Given the description of an element on the screen output the (x, y) to click on. 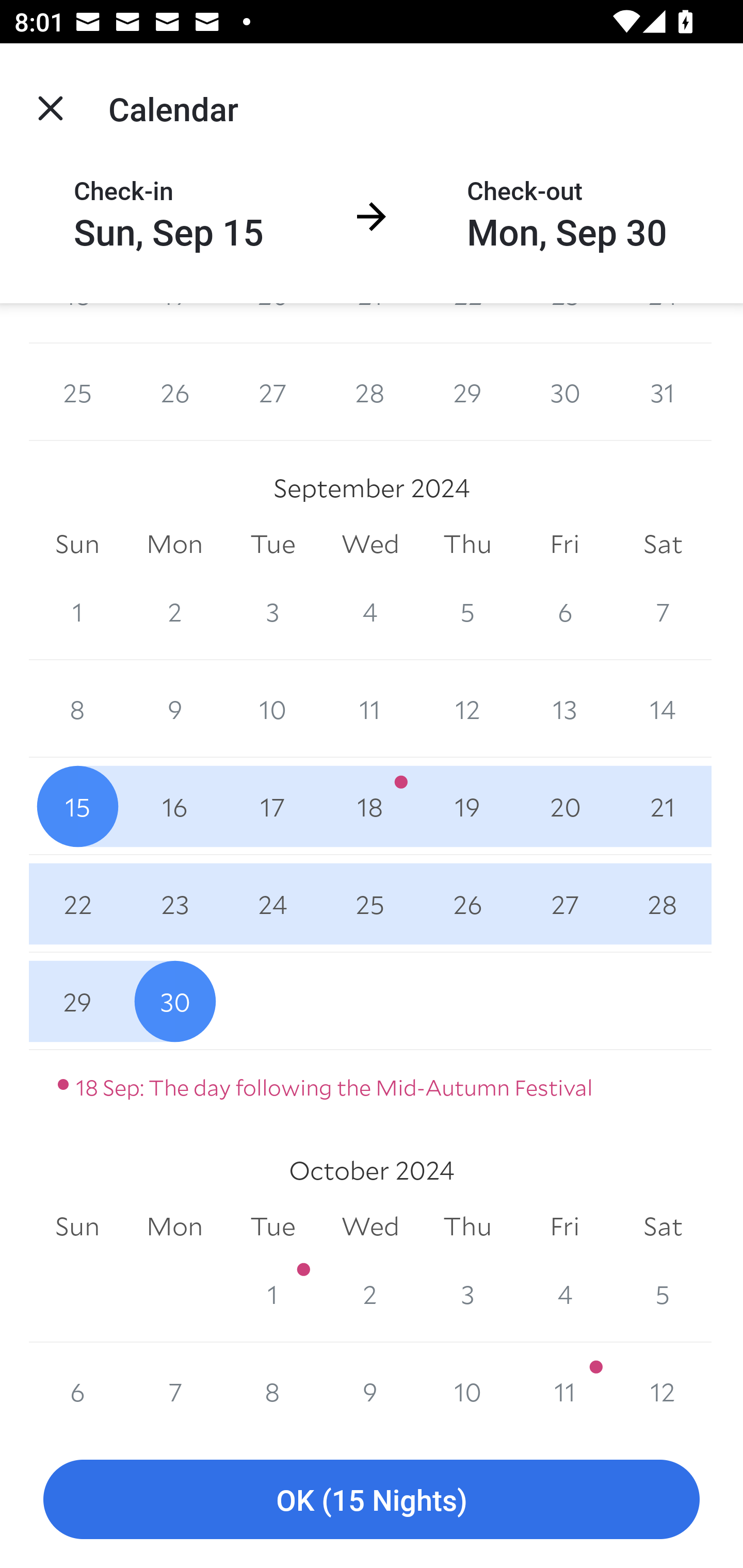
25 25 August 2024 (77, 391)
26 26 August 2024 (174, 391)
27 27 August 2024 (272, 391)
28 28 August 2024 (370, 391)
29 29 August 2024 (467, 391)
30 30 August 2024 (564, 391)
31 31 August 2024 (662, 391)
Sun (77, 543)
Mon (174, 543)
Tue (272, 543)
Wed (370, 543)
Thu (467, 543)
Fri (564, 543)
Sat (662, 543)
1 1 September 2024 (77, 611)
2 2 September 2024 (174, 611)
3 3 September 2024 (272, 611)
4 4 September 2024 (370, 611)
5 5 September 2024 (467, 611)
6 6 September 2024 (564, 611)
7 7 September 2024 (662, 611)
8 8 September 2024 (77, 708)
9 9 September 2024 (174, 708)
10 10 September 2024 (272, 708)
11 11 September 2024 (370, 708)
12 12 September 2024 (467, 708)
13 13 September 2024 (564, 708)
14 14 September 2024 (662, 708)
15 15 September 2024 (77, 805)
16 16 September 2024 (174, 805)
17 17 September 2024 (272, 805)
18 18 September 2024 (370, 805)
19 19 September 2024 (467, 805)
20 20 September 2024 (564, 805)
21 21 September 2024 (662, 805)
22 22 September 2024 (77, 903)
23 23 September 2024 (174, 903)
24 24 September 2024 (272, 903)
25 25 September 2024 (370, 903)
26 26 September 2024 (467, 903)
27 27 September 2024 (564, 903)
28 28 September 2024 (662, 903)
29 29 September 2024 (77, 1001)
30 30 September 2024 (174, 1001)
Sun (77, 1225)
Mon (174, 1225)
Tue (272, 1225)
Wed (370, 1225)
Thu (467, 1225)
